Given the description of an element on the screen output the (x, y) to click on. 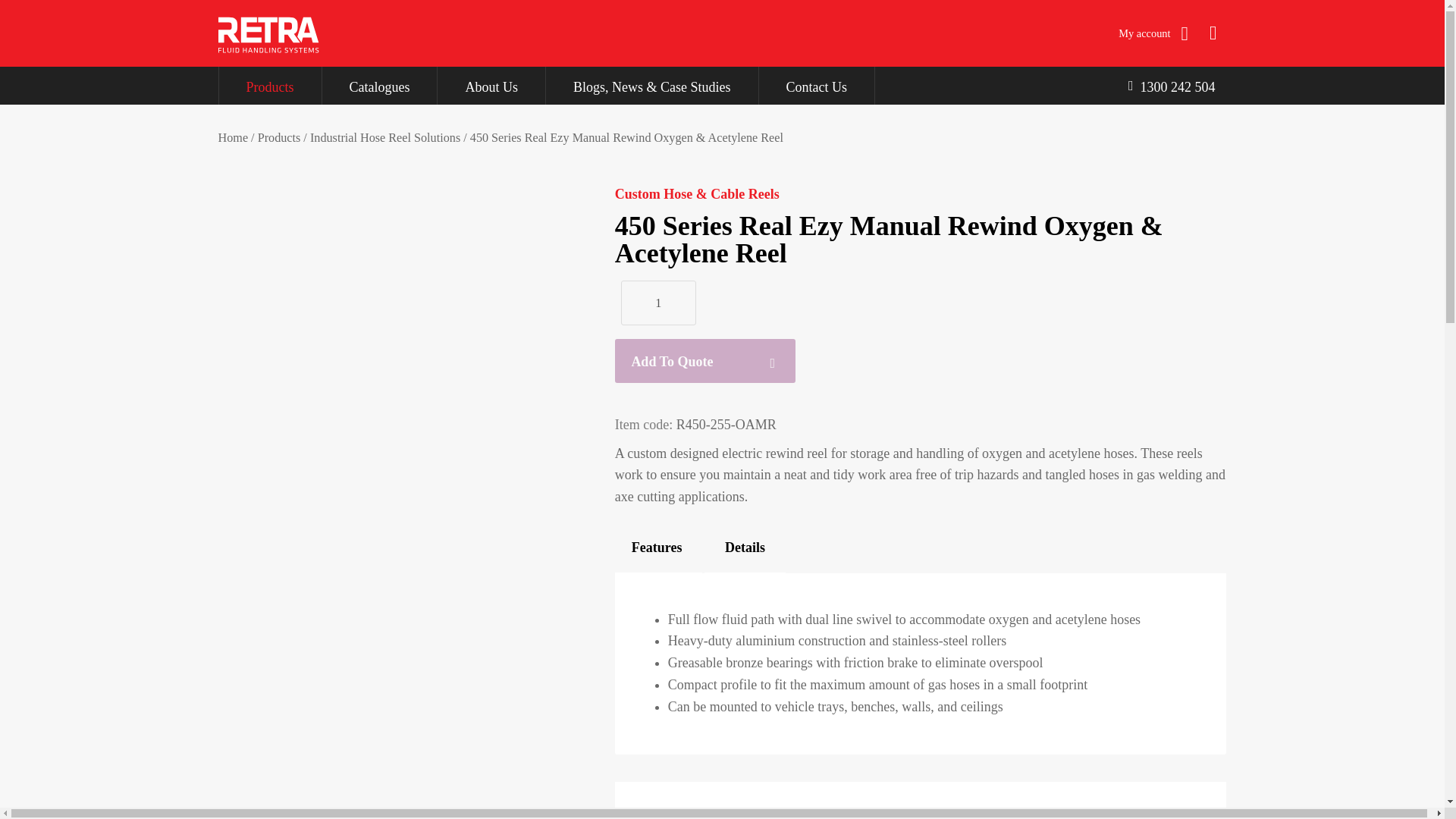
View your shopping cart (1212, 33)
My account (1153, 33)
Products (279, 137)
Contact Us (816, 84)
1300 242 504 (1171, 84)
Catalogues (378, 84)
Qty (658, 302)
1 (658, 302)
Products (269, 84)
Home (233, 137)
About Us (491, 84)
Industrial Hose Reel Solutions (385, 137)
